Given the description of an element on the screen output the (x, y) to click on. 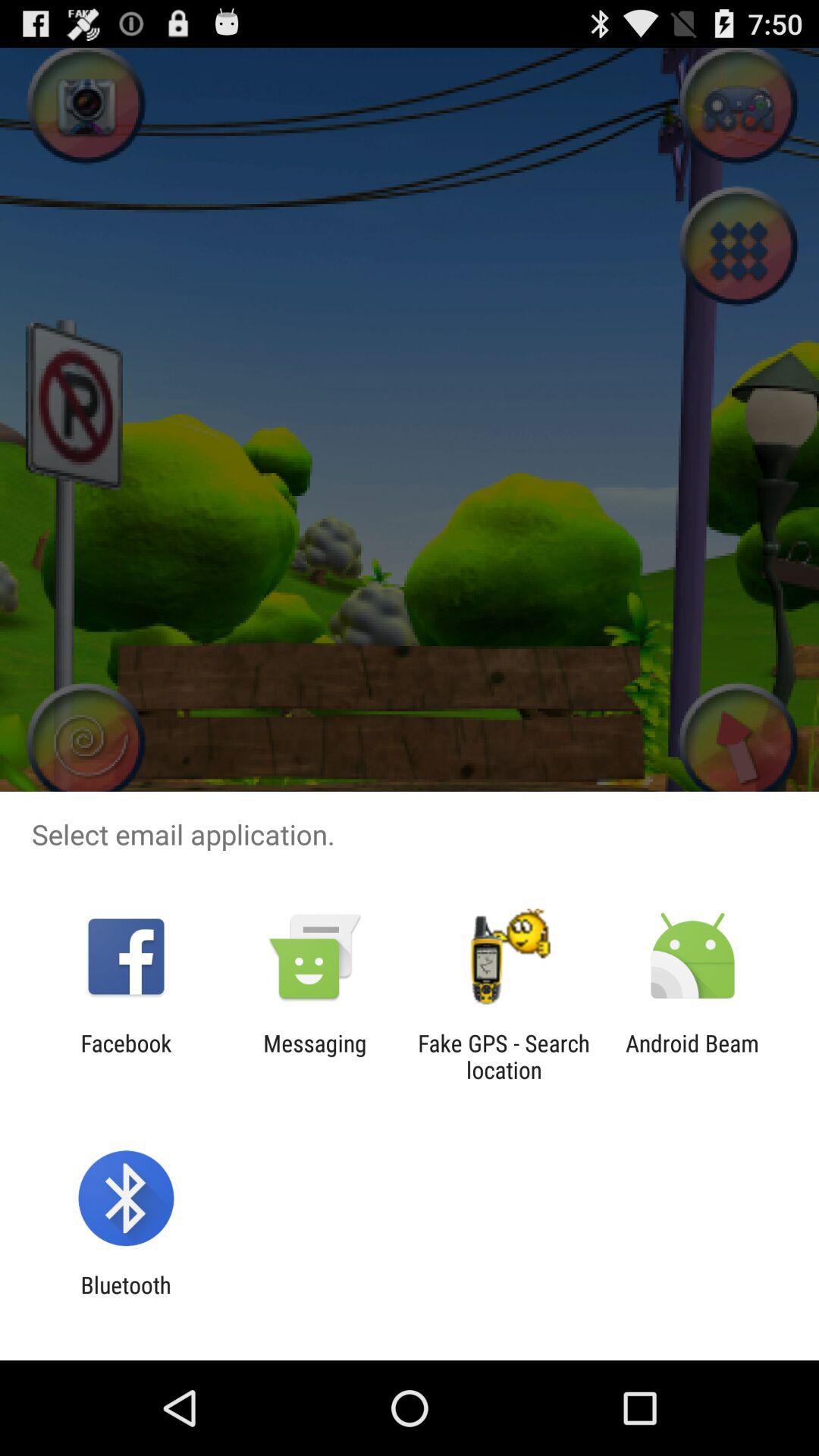
open the icon next to the fake gps search (314, 1056)
